Given the description of an element on the screen output the (x, y) to click on. 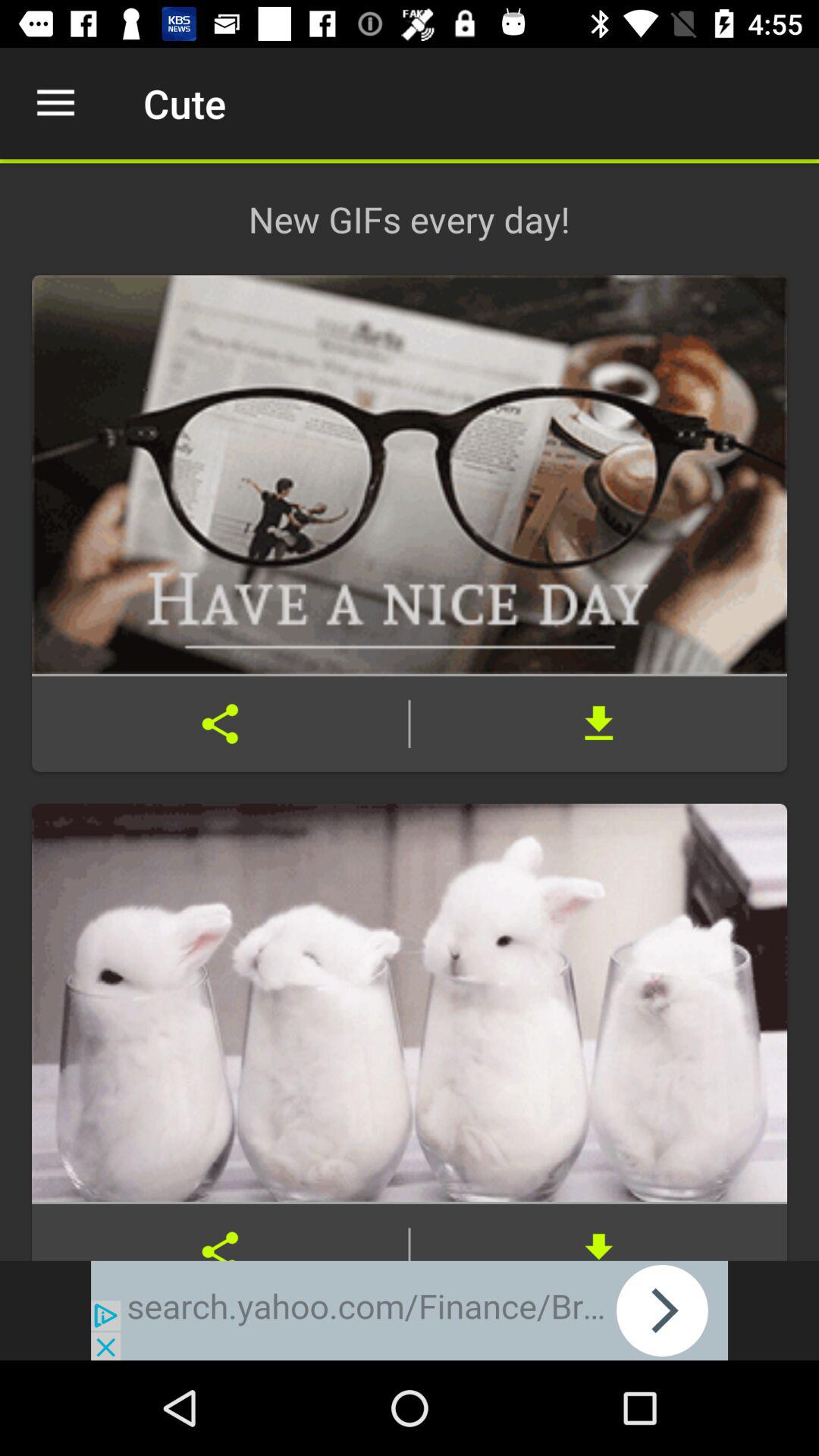
share the article (219, 1232)
